Given the description of an element on the screen output the (x, y) to click on. 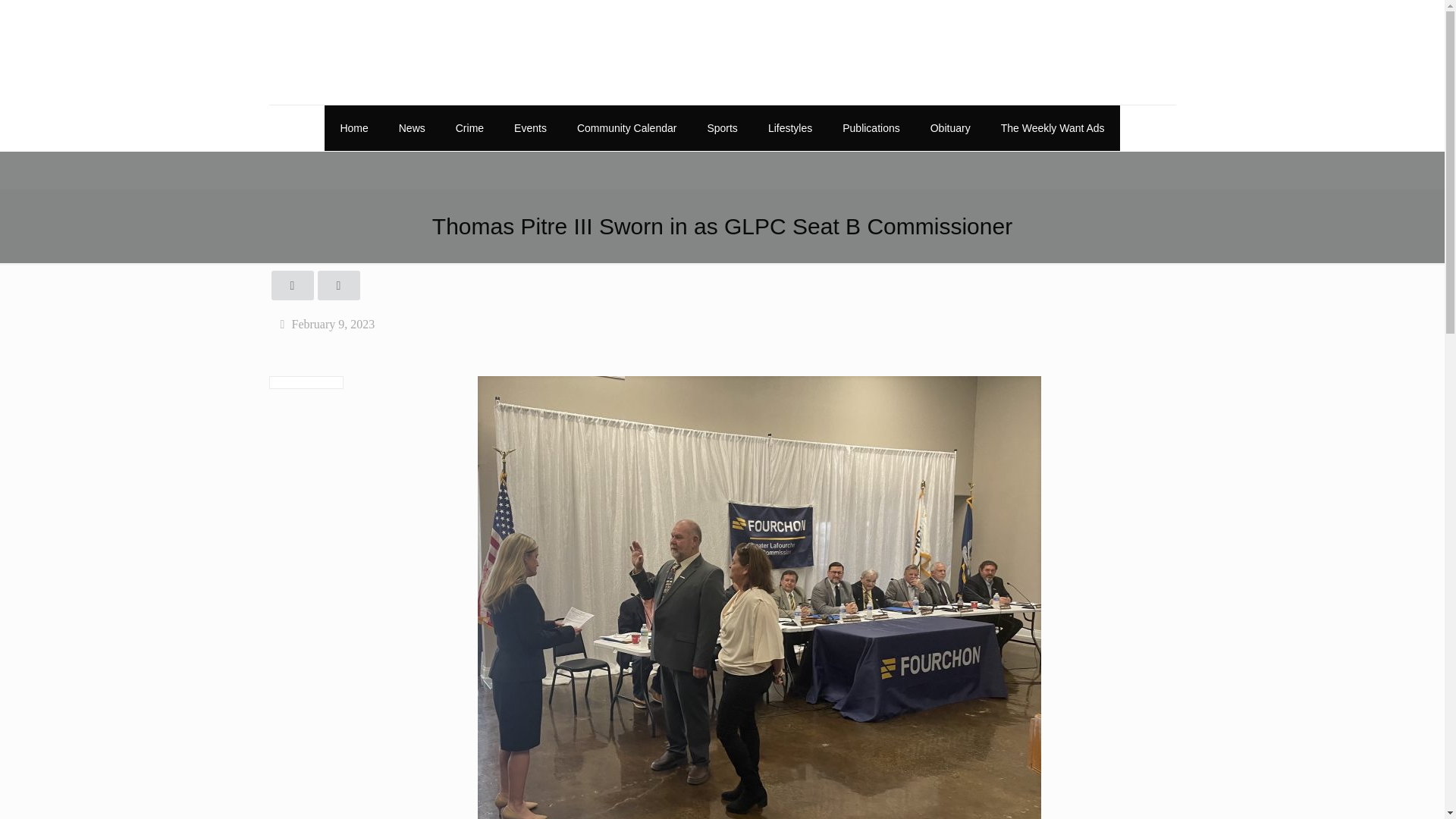
The Weekly Want Ads (1052, 127)
Lifestyles (789, 127)
Crime (470, 127)
Sports (721, 127)
Events (530, 127)
Home (353, 127)
Community Calendar (627, 127)
Publications (871, 127)
Obituary (950, 127)
News (412, 127)
